Given the description of an element on the screen output the (x, y) to click on. 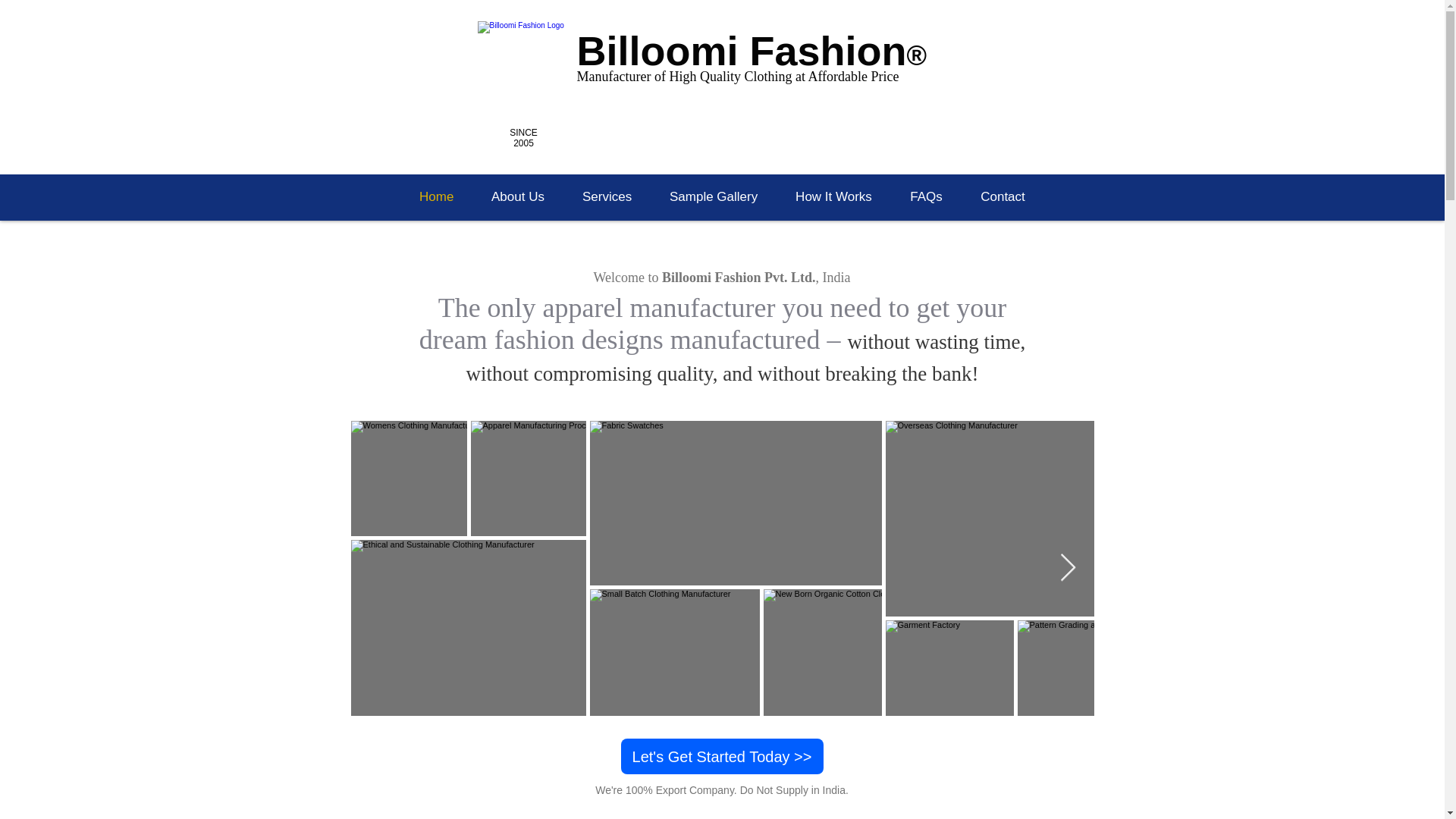
Services (606, 197)
Contact (1001, 197)
About Us (517, 197)
How It Works (833, 197)
Home (435, 197)
Sample Gallery (713, 197)
FAQs (925, 197)
